Given the description of an element on the screen output the (x, y) to click on. 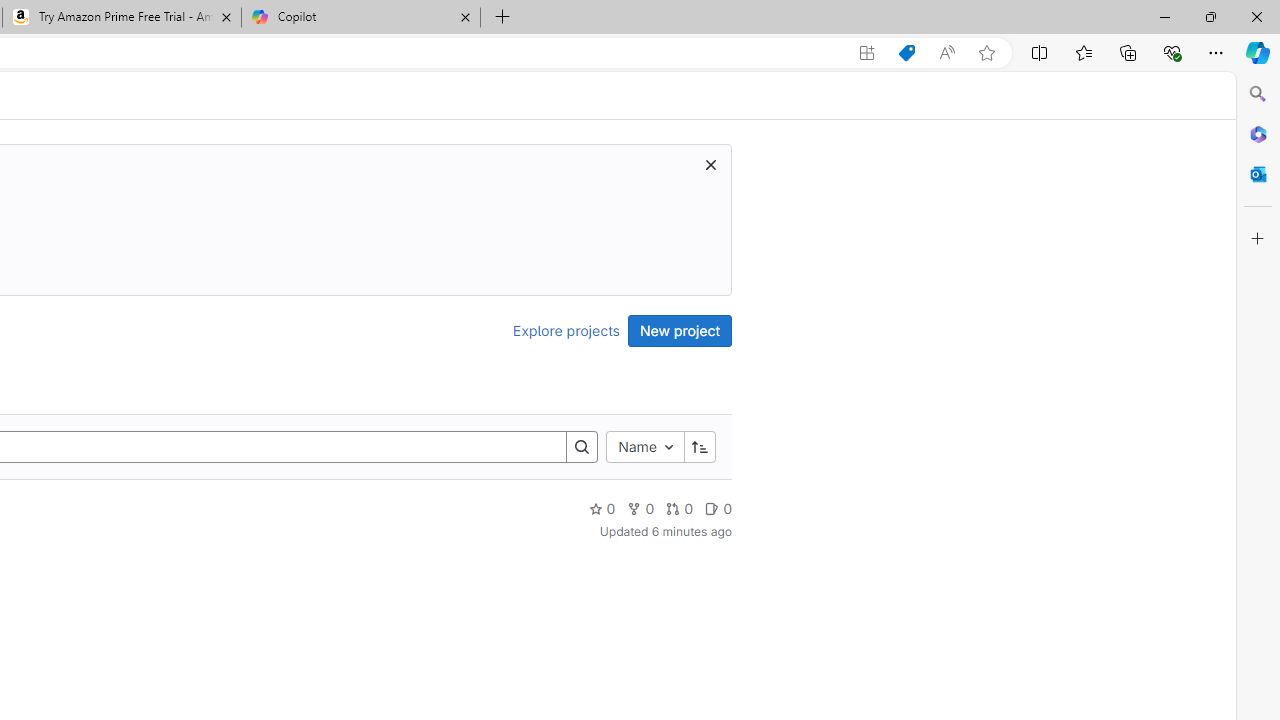
Copilot (360, 17)
Name (644, 445)
Explore projects (565, 330)
App available. Install GitLab (867, 53)
New project (680, 330)
